Given the description of an element on the screen output the (x, y) to click on. 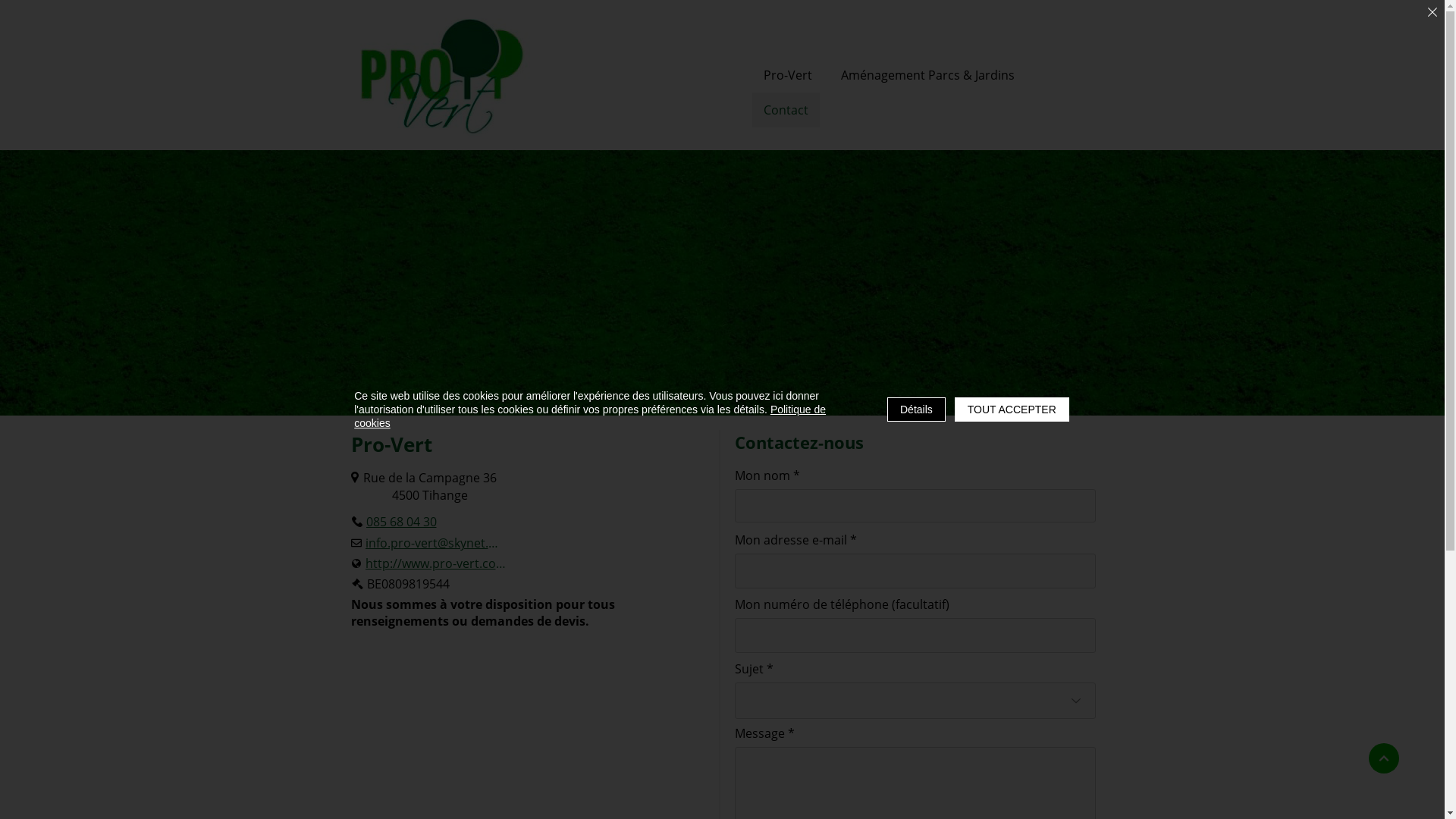
TOUT ACCEPTER Element type: text (1011, 409)
Pro-Vert Element type: text (787, 74)
Politique de cookies Element type: text (589, 416)
http://www.pro-vert.com Element type: text (427, 563)
info.pro-vert@skynet.be Element type: text (425, 542)
085 68 04 30 Element type: text (393, 521)
Contact Element type: text (785, 109)
